Given the description of an element on the screen output the (x, y) to click on. 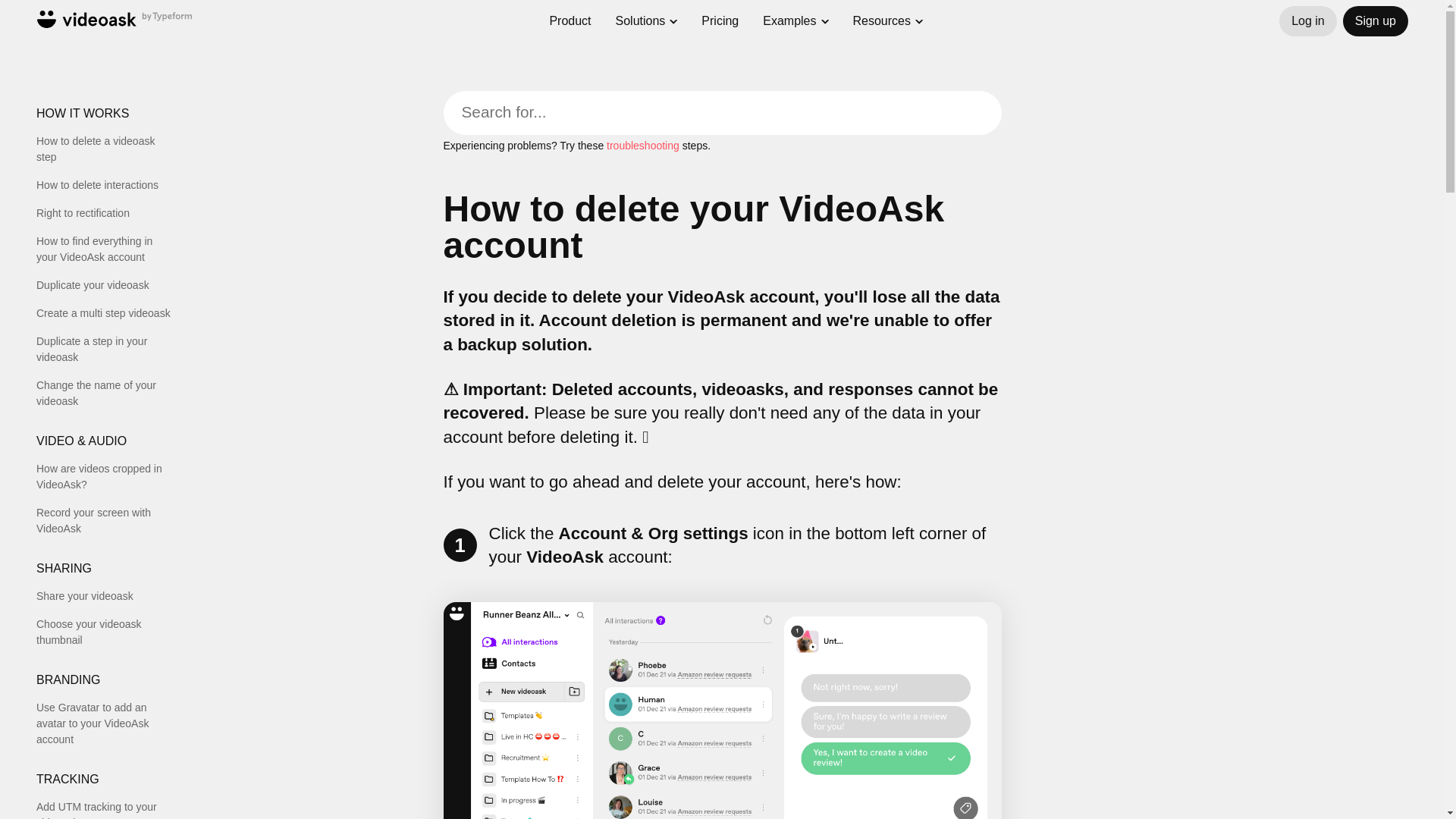
Choose your videoask thumbnail (105, 632)
Product (569, 14)
Pricing (719, 19)
How to find everything in your VideoAsk account (105, 249)
Log in (1307, 20)
Examples (788, 20)
Record your screen with VideoAsk (105, 521)
Resources (882, 20)
How to delete interactions (105, 185)
Use Gravatar to add an avatar to your VideoAsk account (105, 723)
Right to rectification (105, 213)
Solutions (640, 16)
Duplicate your videoask (105, 285)
Duplicate a step in your videoask (105, 349)
Create a multi step videoask (105, 313)
